Given the description of an element on the screen output the (x, y) to click on. 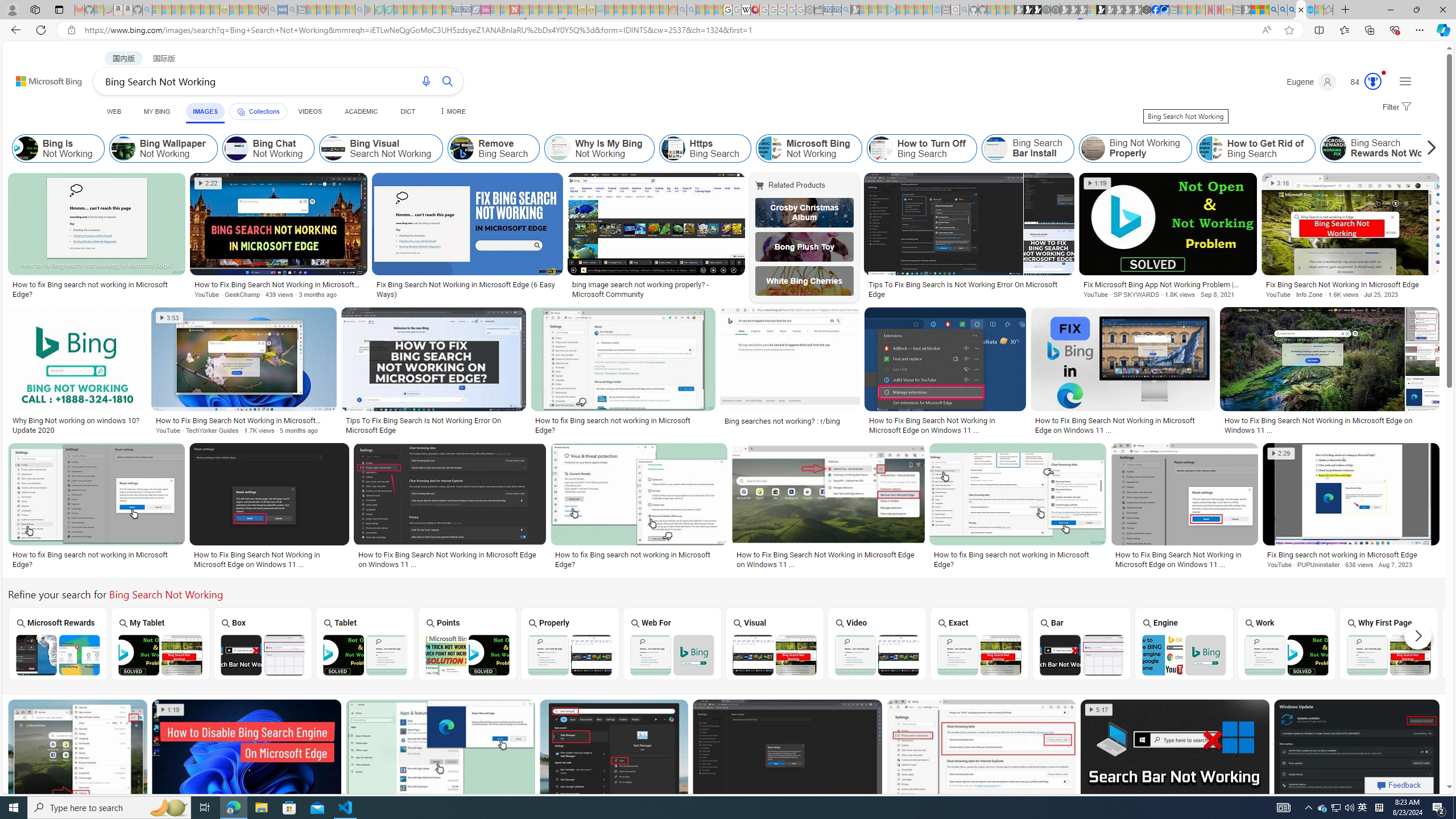
Bing AI - Search (1272, 9)
Bing Crosby Christmas Album (804, 212)
Bing Bong Plush Toy (804, 246)
Bing searches not working? : r/bingSave (792, 372)
Why Is My Bing Not Working (558, 148)
Bing Tablet Search Not Working (364, 655)
Bing Exact Search Not Working (978, 655)
